Given the description of an element on the screen output the (x, y) to click on. 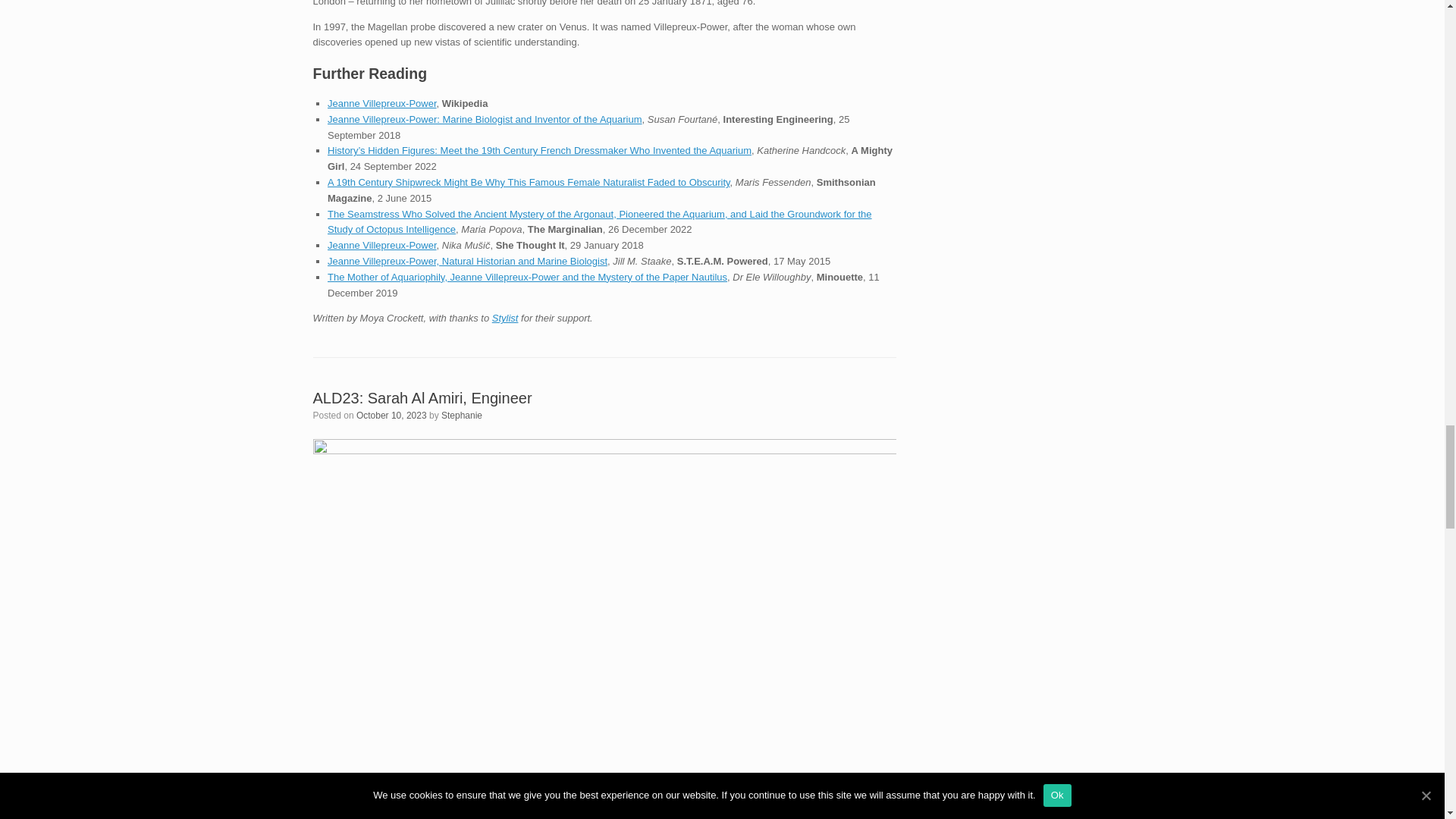
Permalink to ALD23: Sarah Al Amiri, Engineer (422, 397)
6:30 pm (391, 415)
View all posts by Stephanie (461, 415)
